Given the description of an element on the screen output the (x, y) to click on. 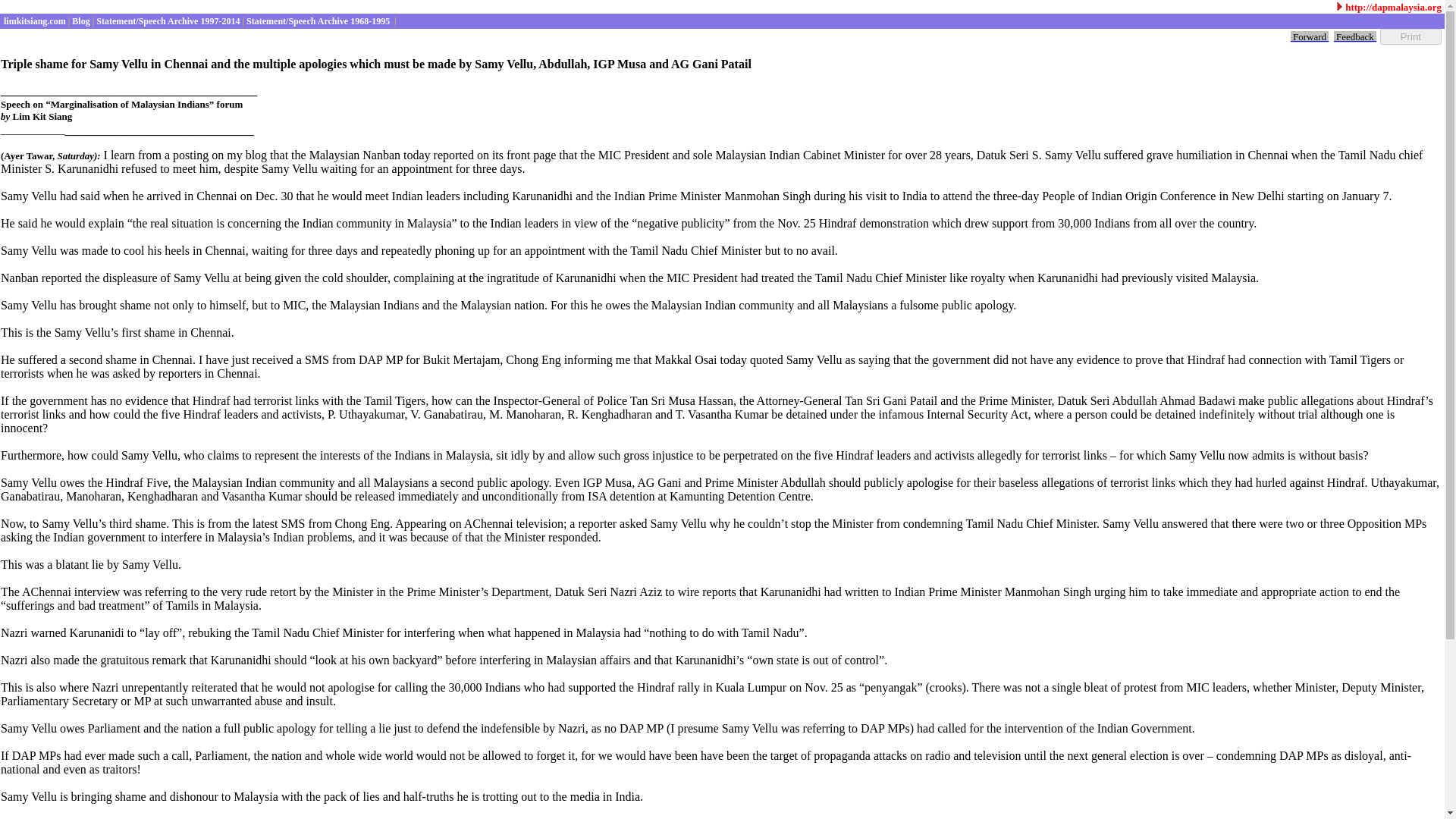
 Blog (78, 20)
 Feedback (1354, 36)
Forward (1309, 36)
     Print      (1410, 36)
 limkitsiang.com (33, 20)
